Given the description of an element on the screen output the (x, y) to click on. 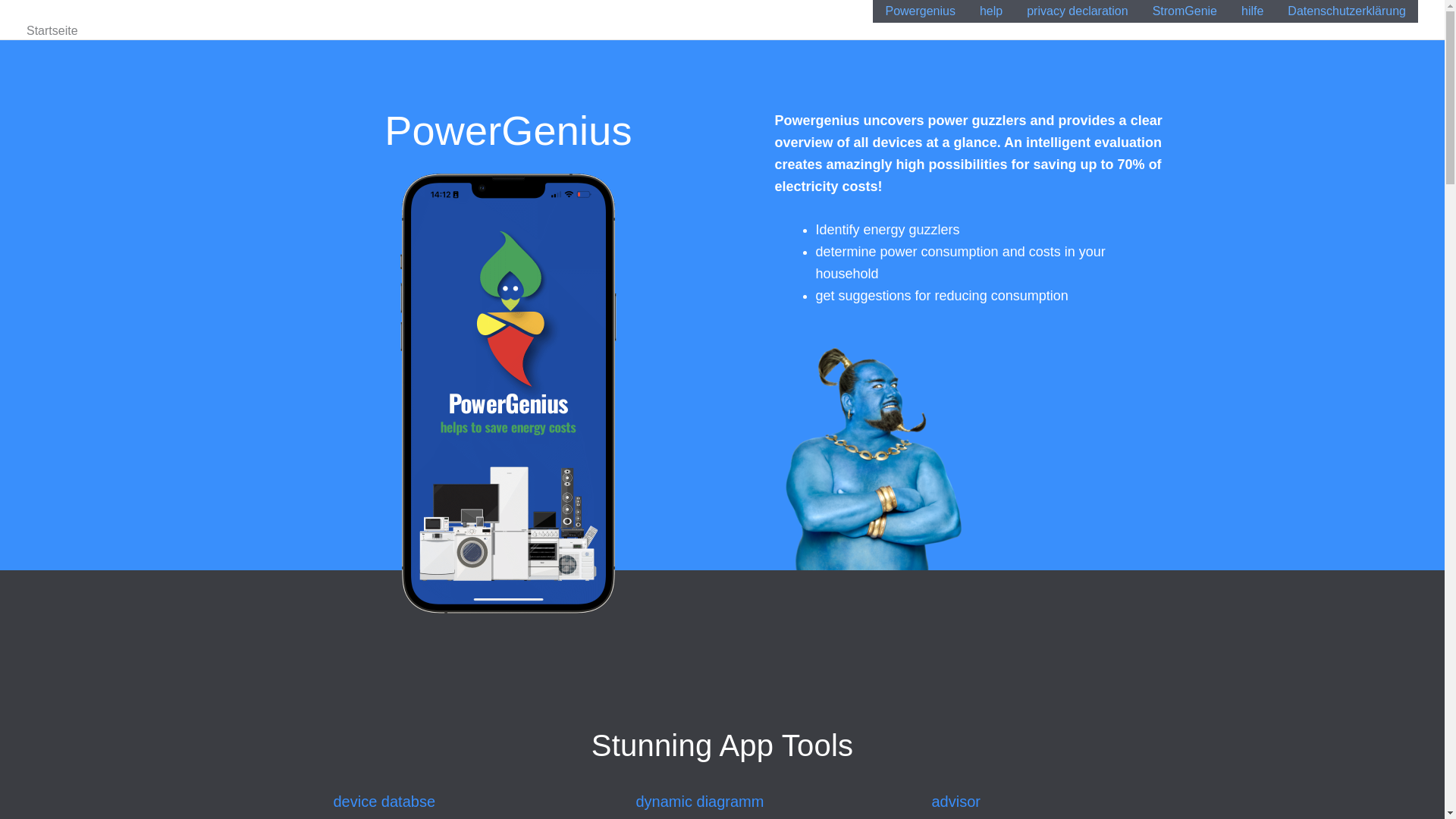
hilfe (1251, 11)
Powergenius (920, 11)
help (991, 11)
privacy declaration (1077, 11)
StromGenie (1184, 11)
